Given the description of an element on the screen output the (x, y) to click on. 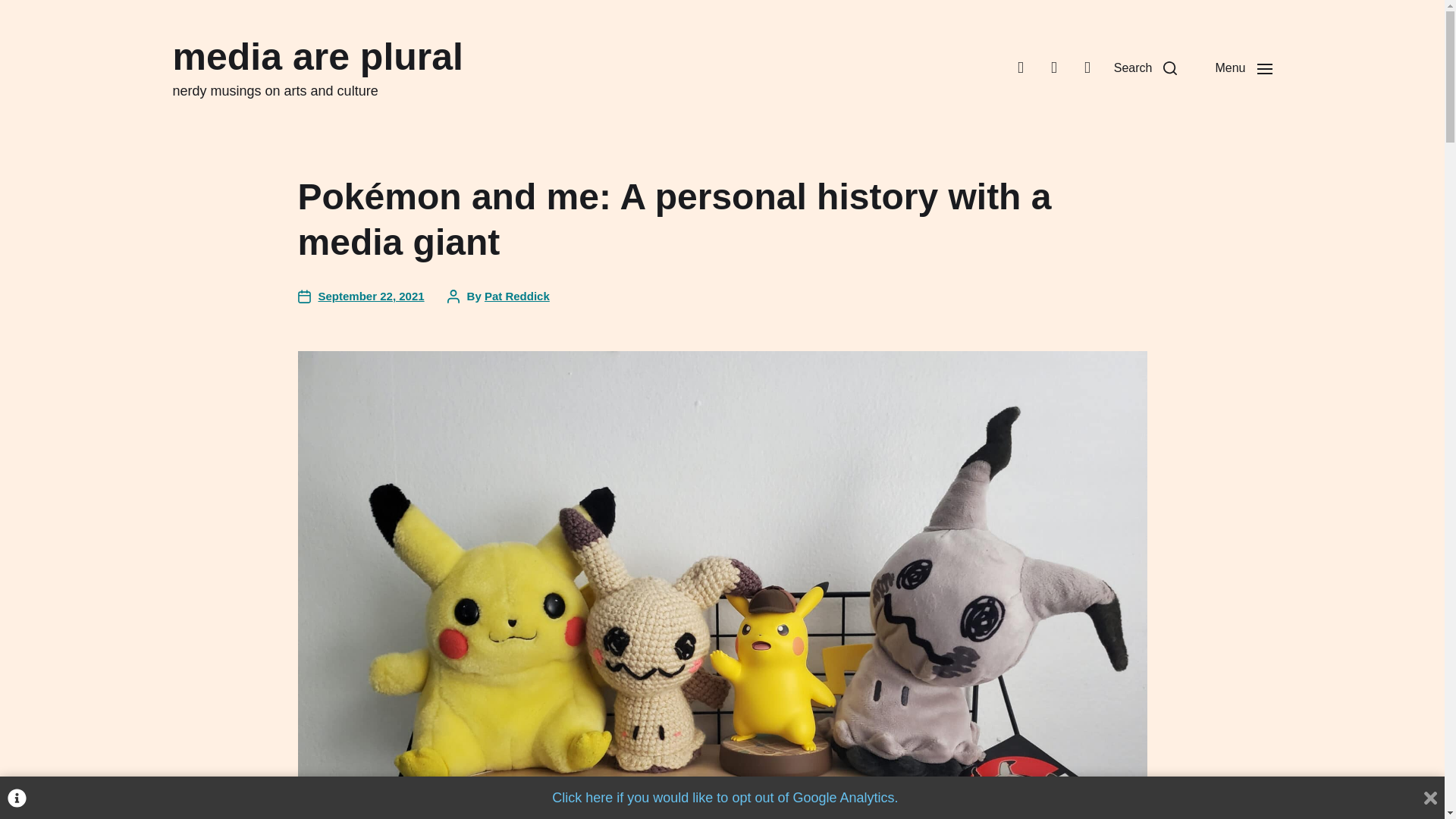
September 22, 2021 (360, 296)
media are plural (318, 56)
Google Analytics Opt-Out Information (16, 797)
Search (1145, 68)
Pat Reddick (517, 295)
Menu (1242, 68)
